Given the description of an element on the screen output the (x, y) to click on. 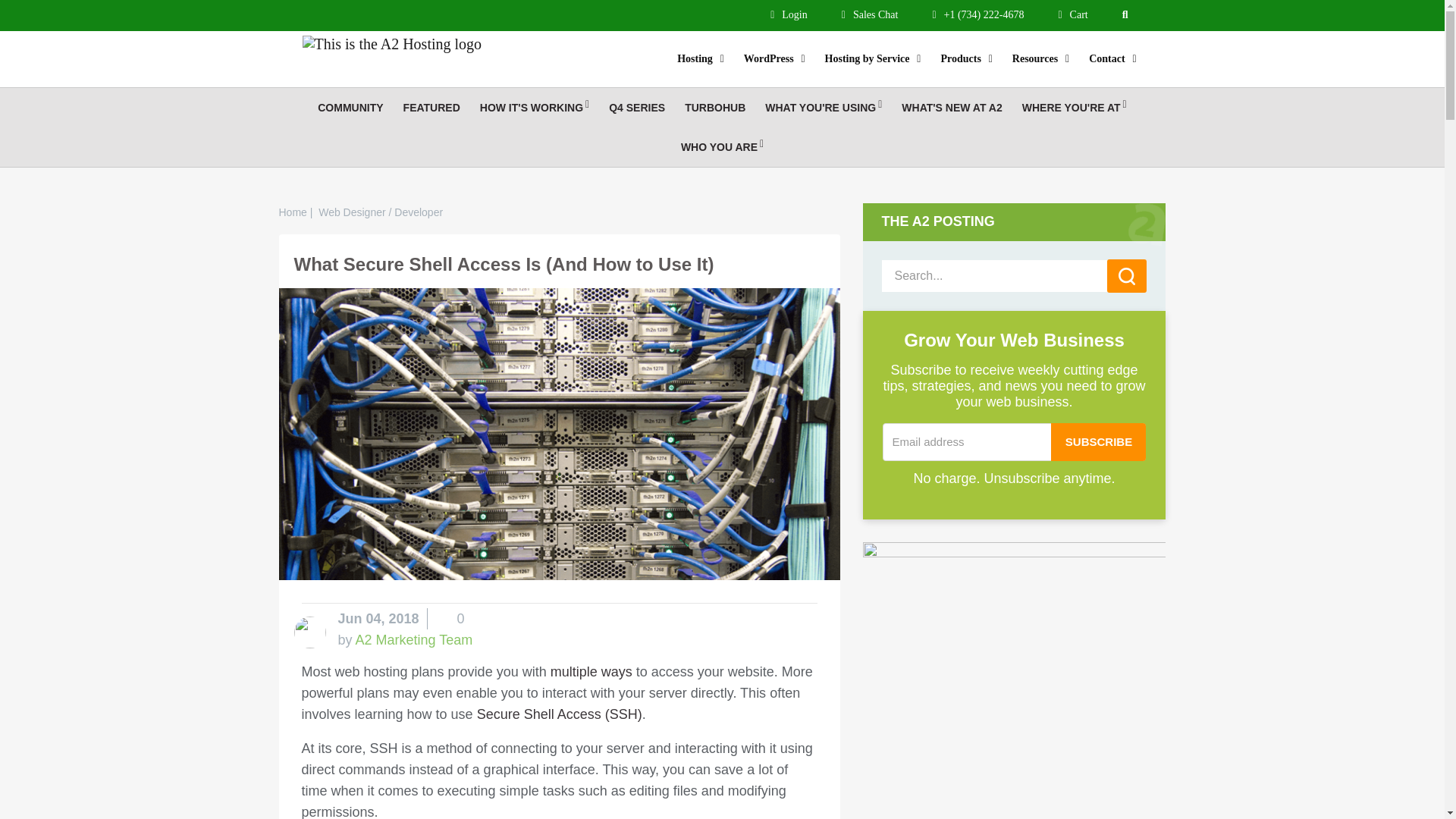
View all posts in What You're Using (823, 107)
View all posts in Featured (431, 107)
Search on A2hosting (1128, 14)
Login (789, 14)
My Cart (1072, 14)
View all posts in What's New At A2 (951, 107)
Login (789, 14)
View all posts in Who You Are (722, 147)
View all posts in TurboHub (715, 107)
Cart (1072, 14)
